Given the description of an element on the screen output the (x, y) to click on. 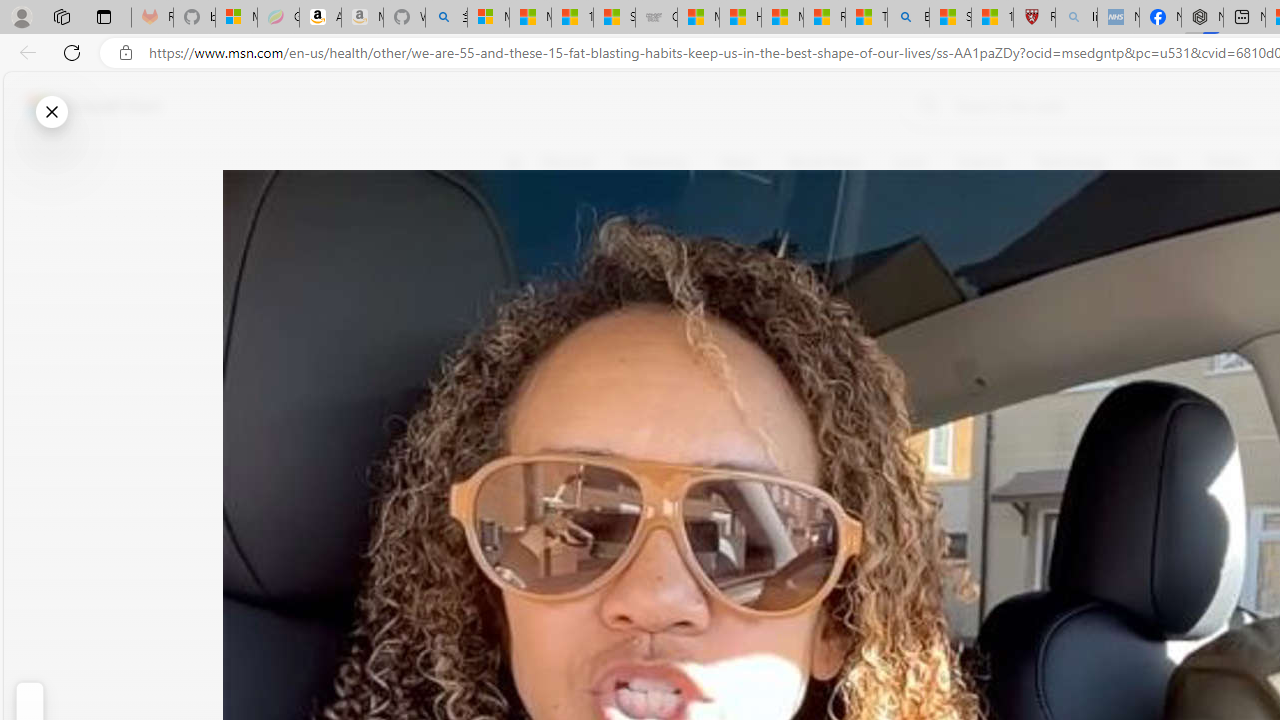
Body Network (788, 259)
World News (824, 162)
Open navigation menu (513, 162)
Discover (568, 162)
12 Popular Science Lies that Must be Corrected (991, 17)
Crime (1156, 162)
Technology (1071, 162)
list of asthma inhalers uk - Search - Sleeping (1076, 17)
Science (980, 162)
Microsoft account | Privacy (488, 17)
Combat Siege (656, 17)
NCL Adult Asthma Inhaler Choice Guideline - Sleeping (1118, 17)
